Given the description of an element on the screen output the (x, y) to click on. 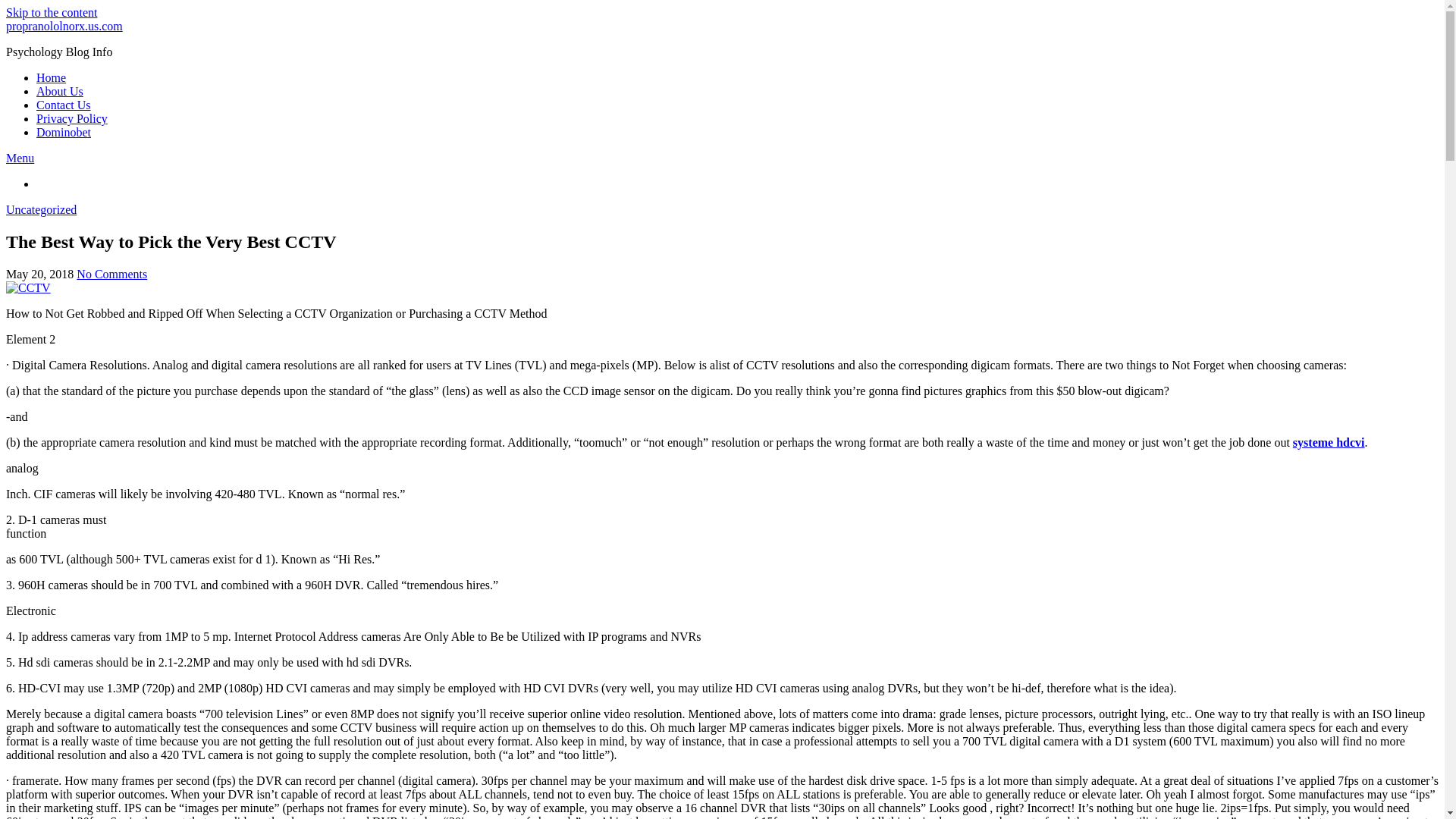
Skip to the content (51, 11)
systeme hdcvi (1328, 441)
Contact Us (63, 104)
Uncategorized (41, 209)
Home (50, 77)
Dominobet (63, 132)
No Comments (112, 273)
Privacy Policy (71, 118)
Menu (19, 157)
propranololnorx.us.com (63, 25)
